Given the description of an element on the screen output the (x, y) to click on. 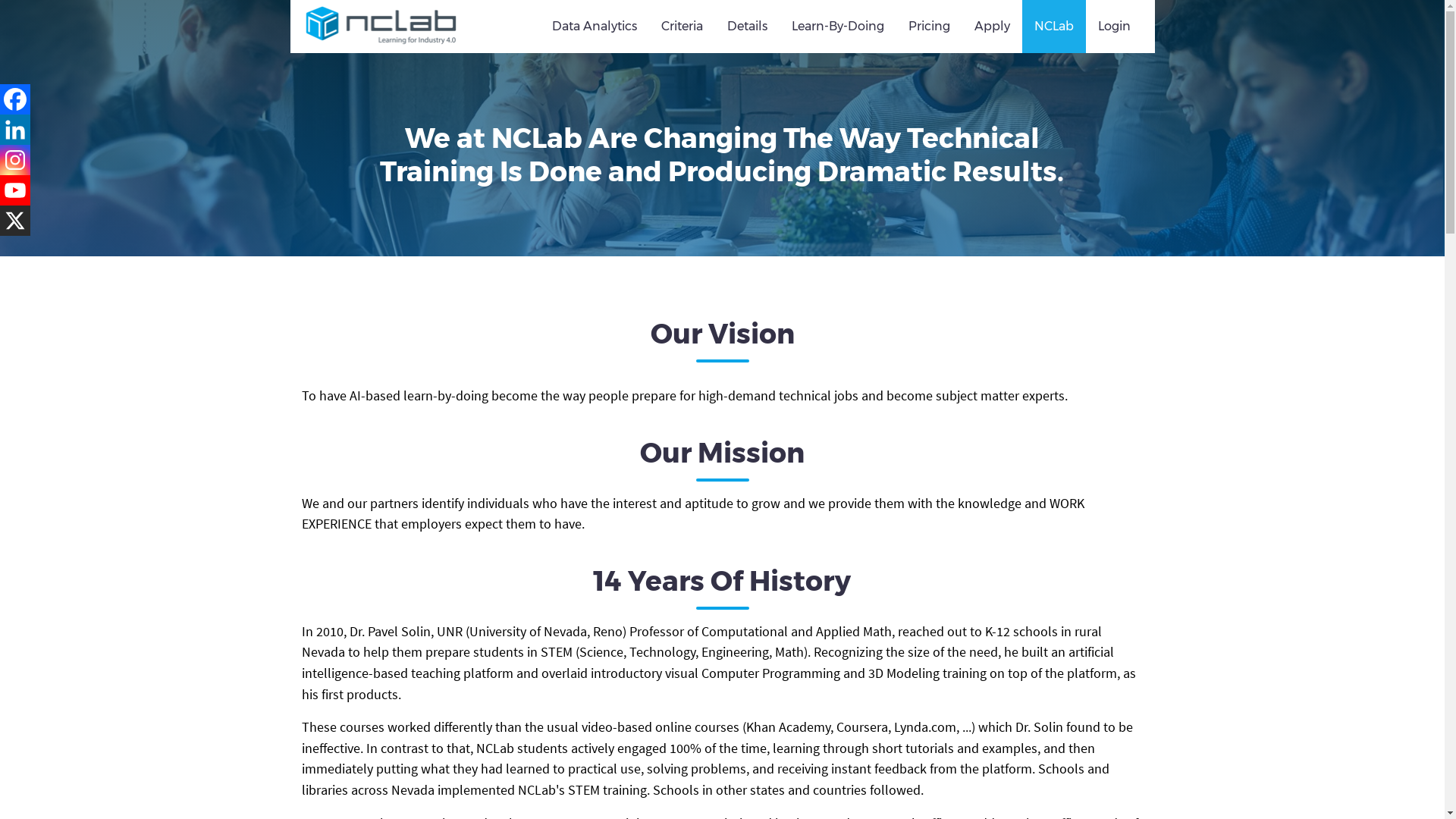
Criteria (681, 26)
Facebook (15, 99)
Instagram (15, 159)
Pricing (929, 26)
Youtube (15, 190)
Pricing (929, 26)
Data Analytics (594, 26)
Details (746, 26)
Apply (991, 26)
Login (1114, 26)
